Given the description of an element on the screen output the (x, y) to click on. 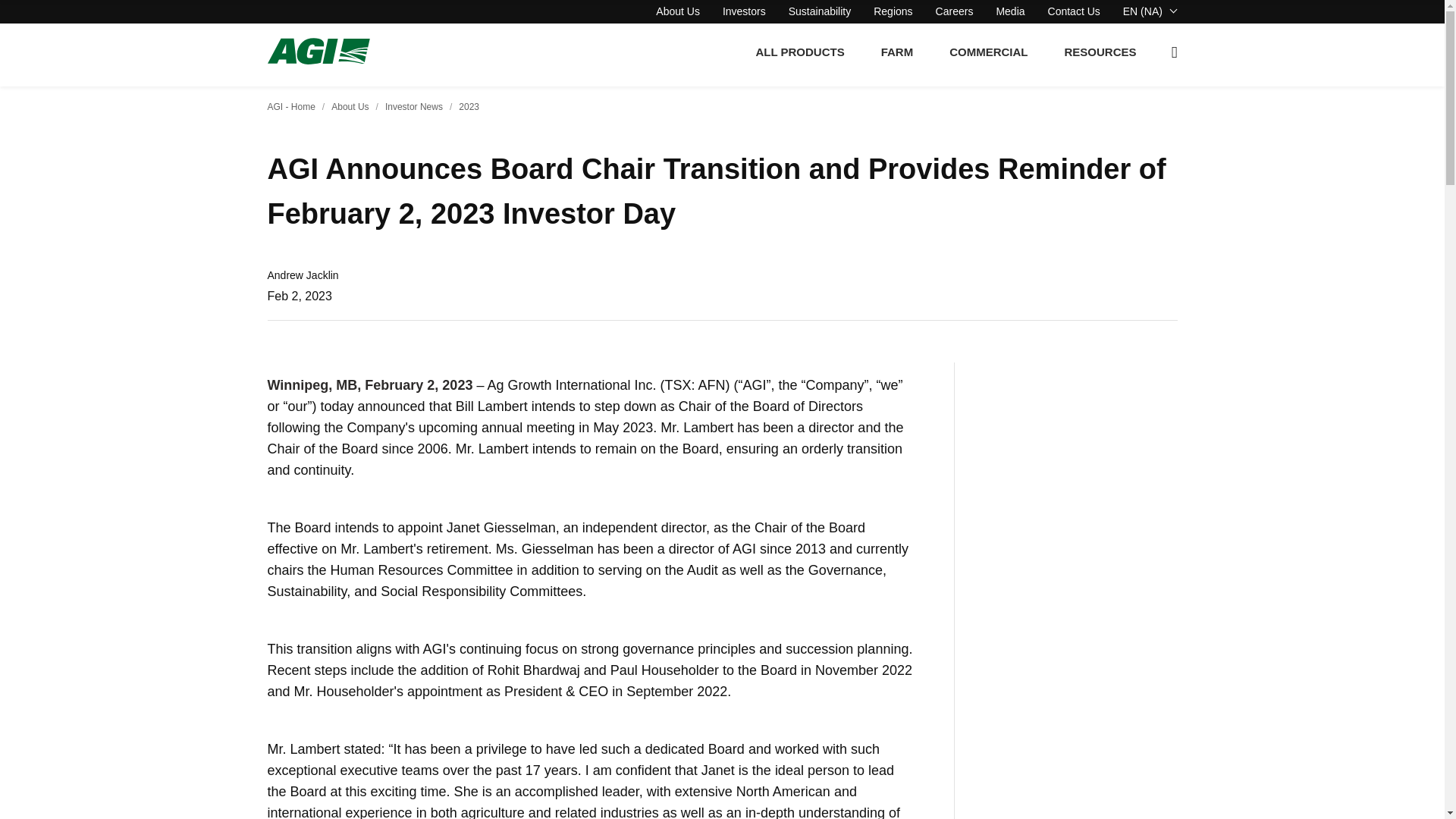
Regions (892, 10)
Contact Us (1074, 10)
Media (1010, 10)
About Us (678, 10)
Sustainability (820, 10)
Careers (955, 10)
Investors (743, 10)
